Given the description of an element on the screen output the (x, y) to click on. 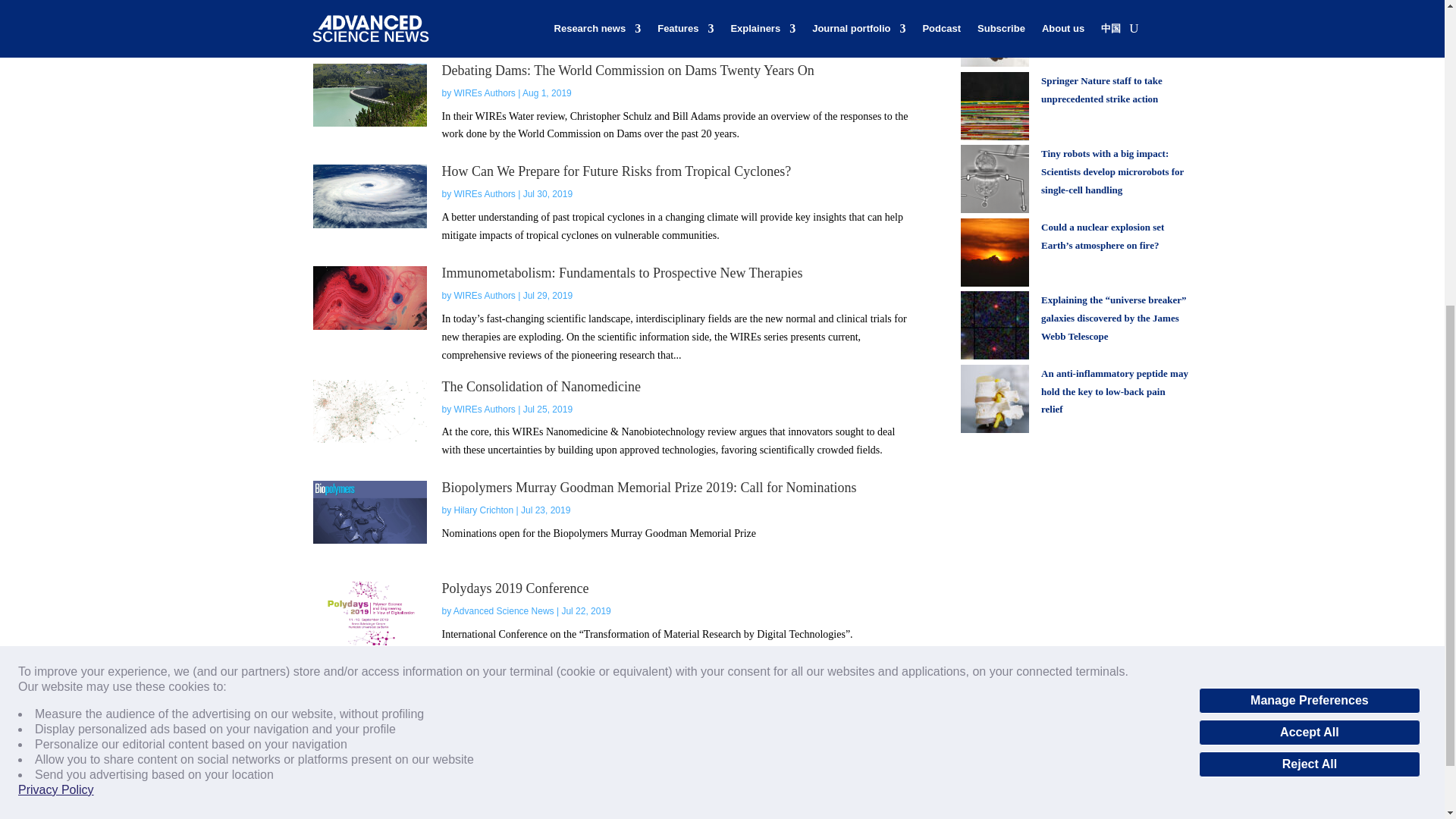
Posts by WIREs Authors (484, 409)
Privacy Policy (55, 265)
Posts by Jolke Perelaer (483, 3)
Posts by WIREs Authors (484, 194)
Posts by WIREs Authors (484, 92)
Reject All (1309, 240)
Manage Preferences (1309, 176)
Accept All (1309, 208)
Posts by Advanced Science News (503, 611)
Posts by WIREs Authors (484, 295)
